Given the description of an element on the screen output the (x, y) to click on. 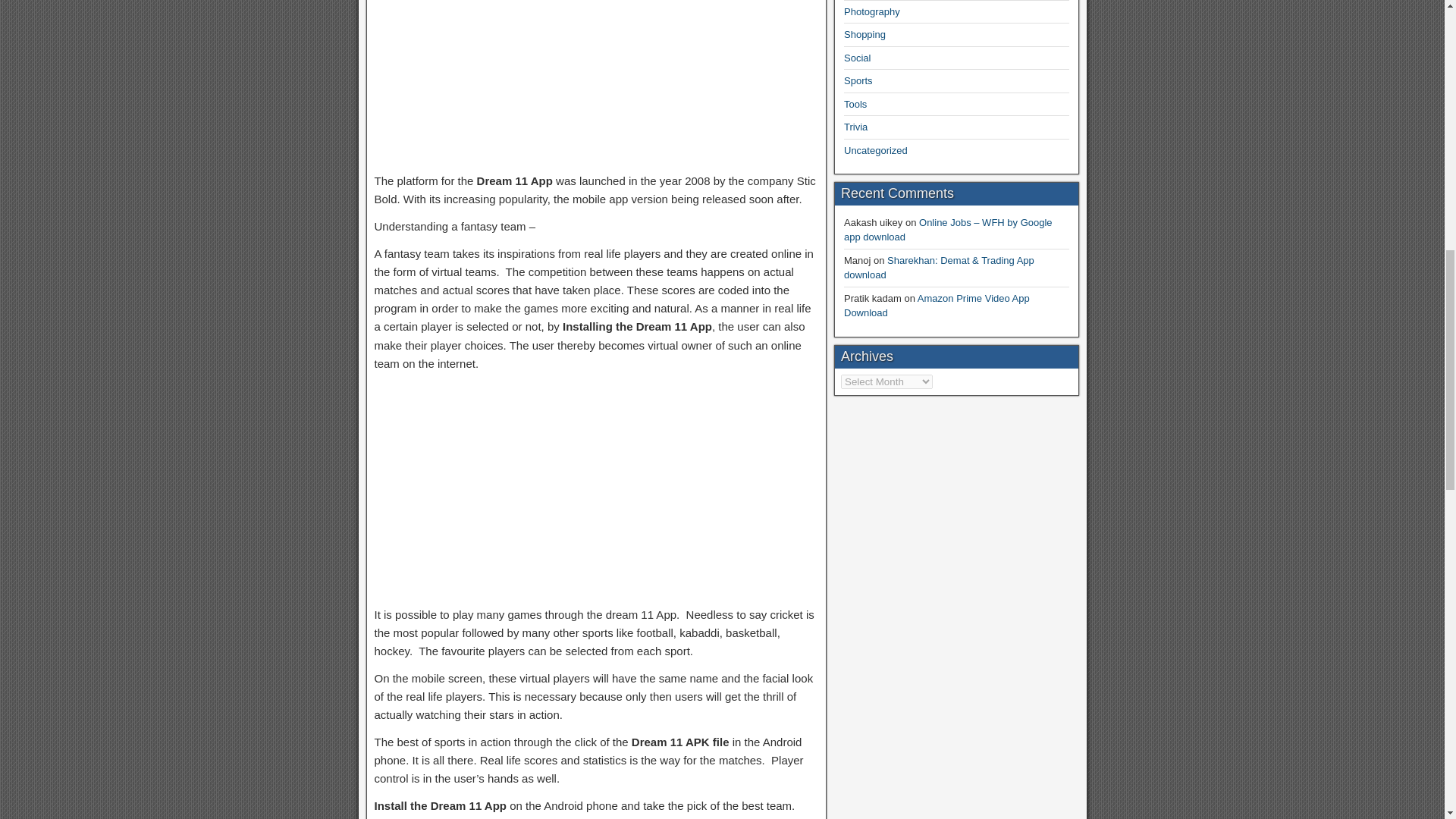
Photography (871, 11)
Advertisement (595, 80)
Advertisement (595, 488)
